Given the description of an element on the screen output the (x, y) to click on. 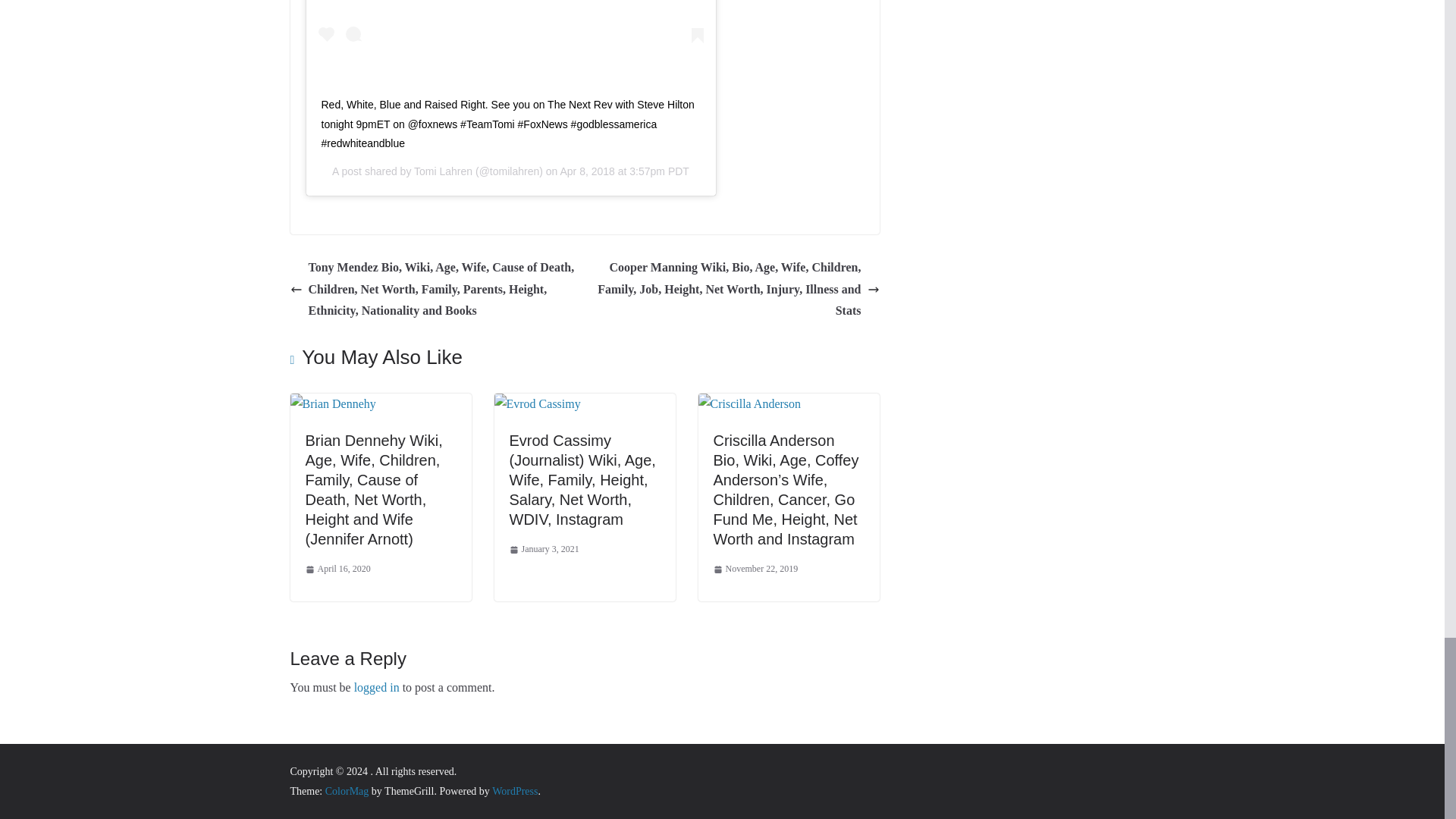
April 16, 2020 (336, 569)
January 3, 2021 (544, 549)
Tomi Lahren (442, 171)
